Given the description of an element on the screen output the (x, y) to click on. 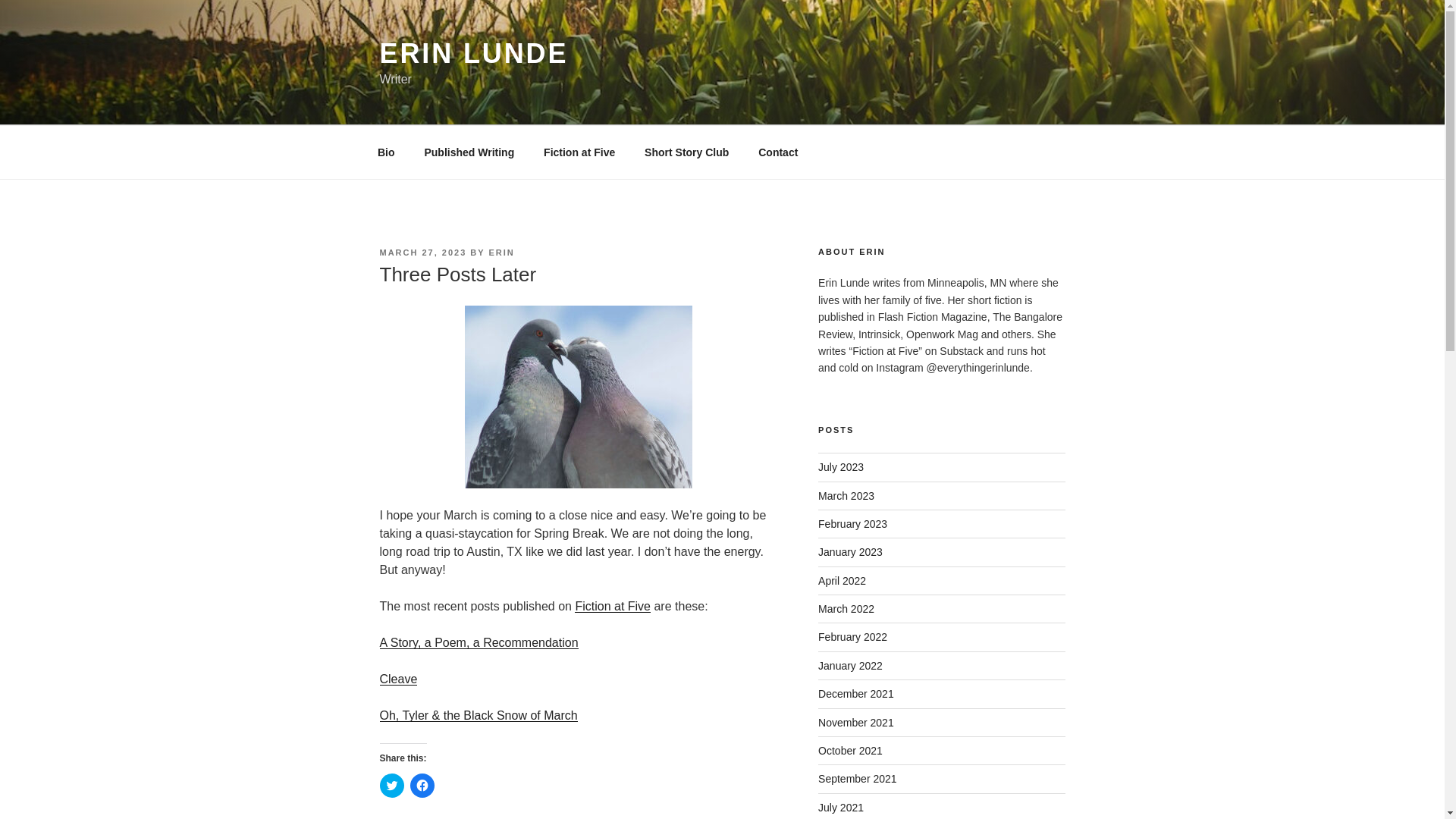
September 2021 (857, 778)
March 2023 (846, 495)
February 2023 (852, 523)
October 2021 (850, 750)
Fiction at Five (579, 151)
A Story, a Poem, a Recommendation (478, 642)
December 2021 (855, 693)
February 2022 (852, 636)
Click to share on Twitter (390, 785)
November 2021 (855, 722)
